Given the description of an element on the screen output the (x, y) to click on. 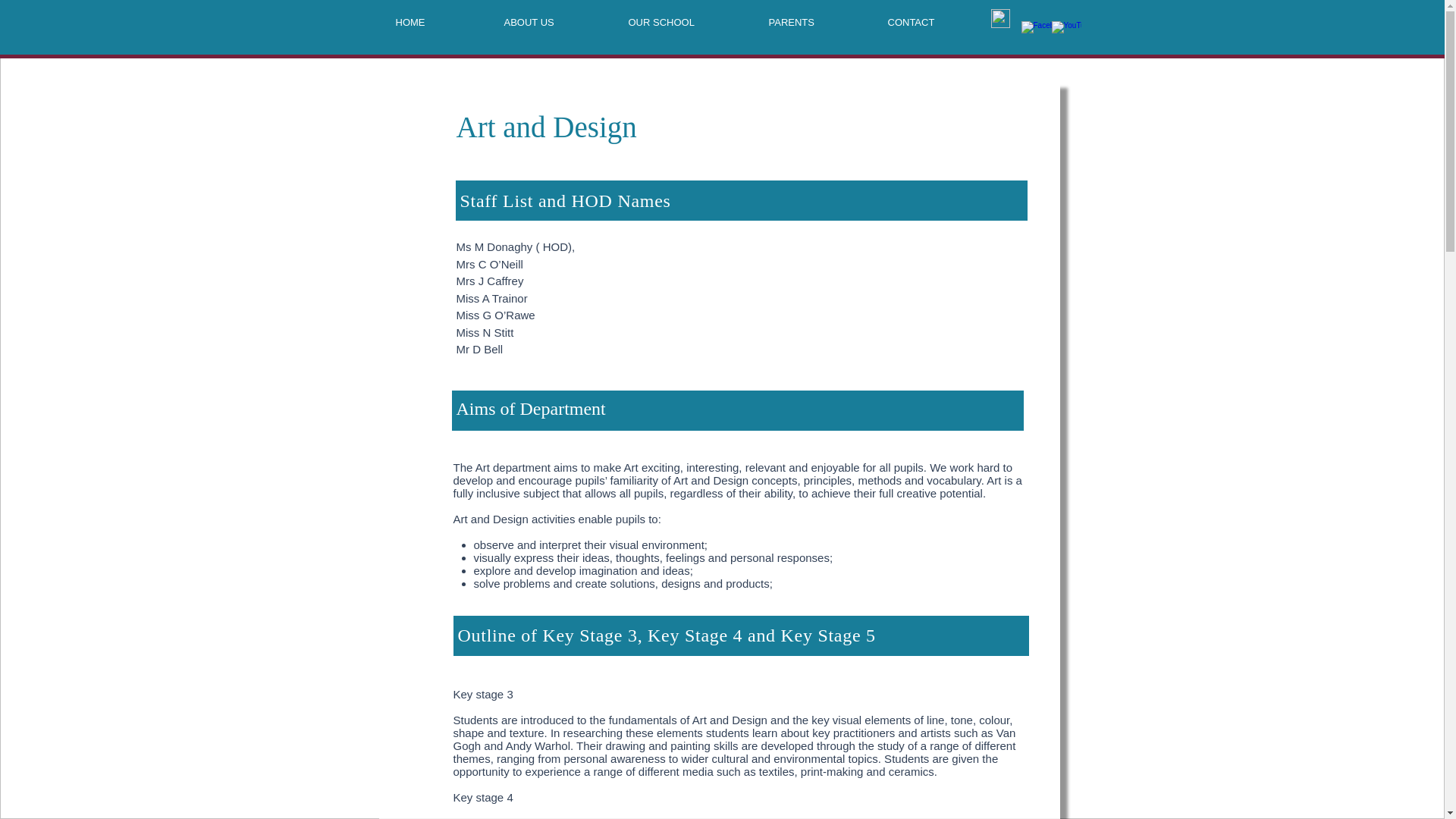
ABOUT US (555, 22)
CONTACT (936, 22)
HOME (438, 22)
